Given the description of an element on the screen output the (x, y) to click on. 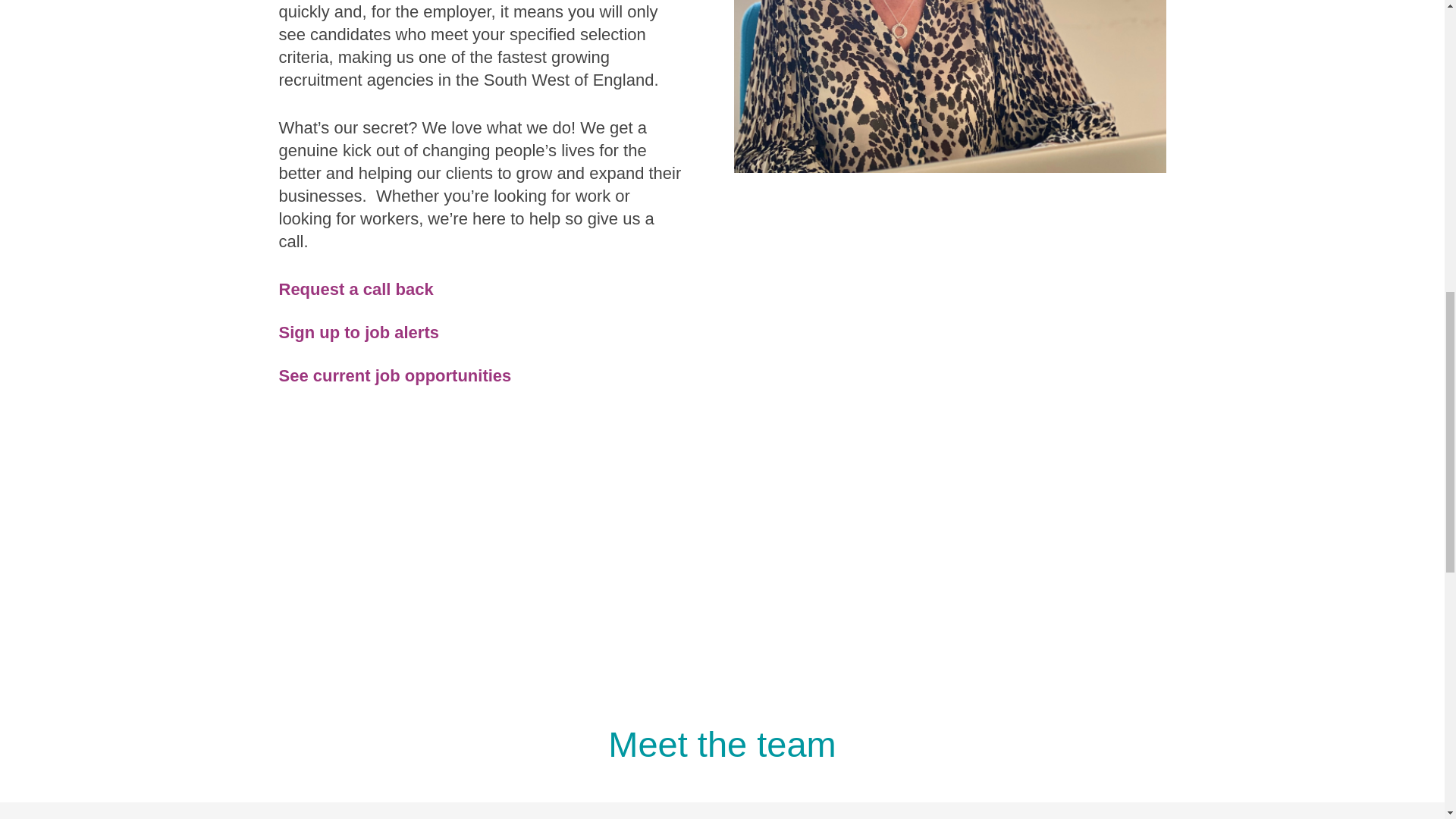
Sign up to job alerts  (361, 332)
See current job opportunities  (397, 375)
Request a call back  (358, 289)
